Given the description of an element on the screen output the (x, y) to click on. 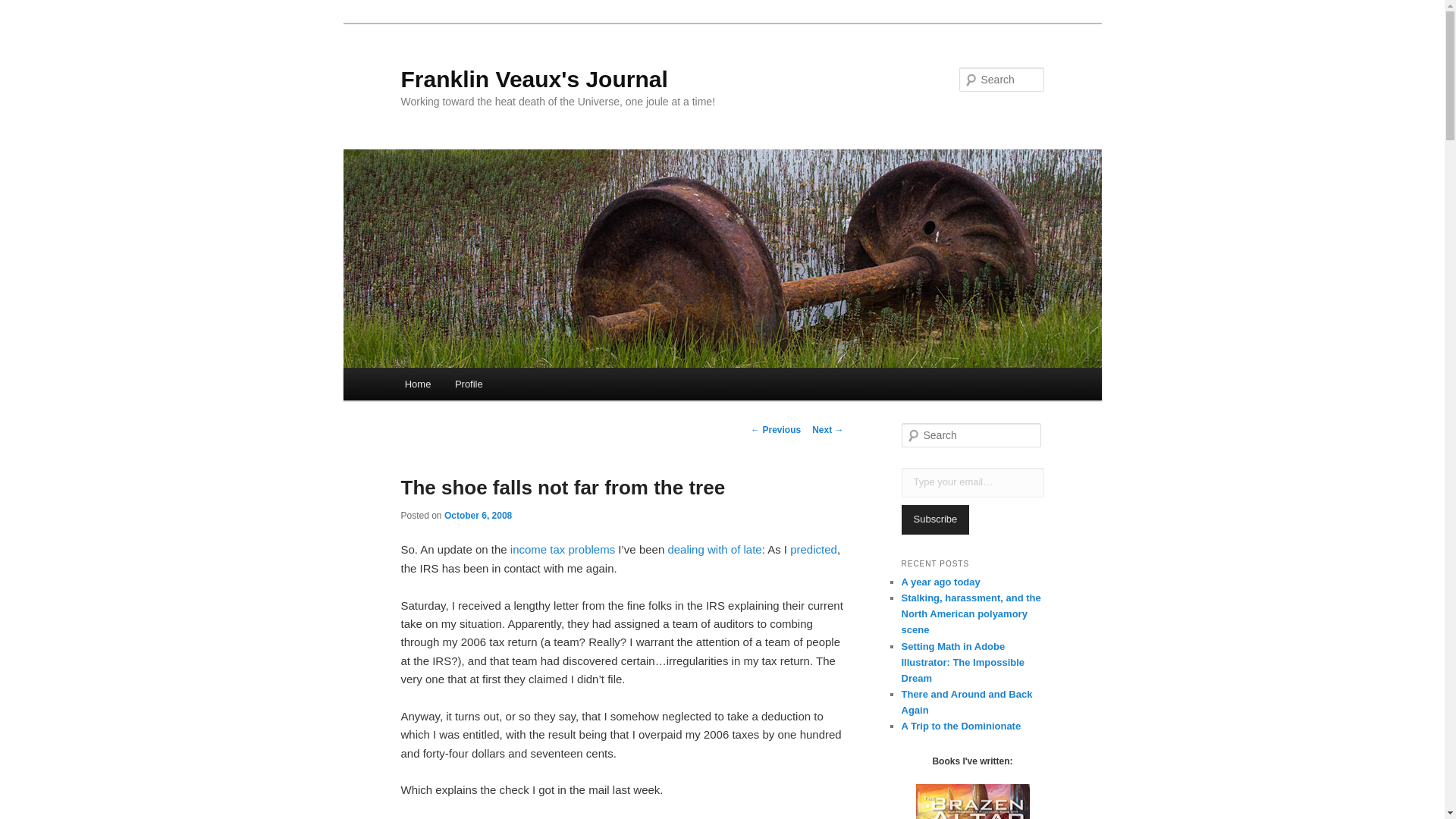
Franklin Veaux's Journal (533, 78)
Home (417, 383)
Please fill in this field. (972, 482)
October 6, 2008 (478, 515)
Search (24, 8)
4:34 pm (478, 515)
dealing with of late (713, 549)
Profile (468, 383)
income tax problems (562, 549)
predicted (813, 549)
